Given the description of an element on the screen output the (x, y) to click on. 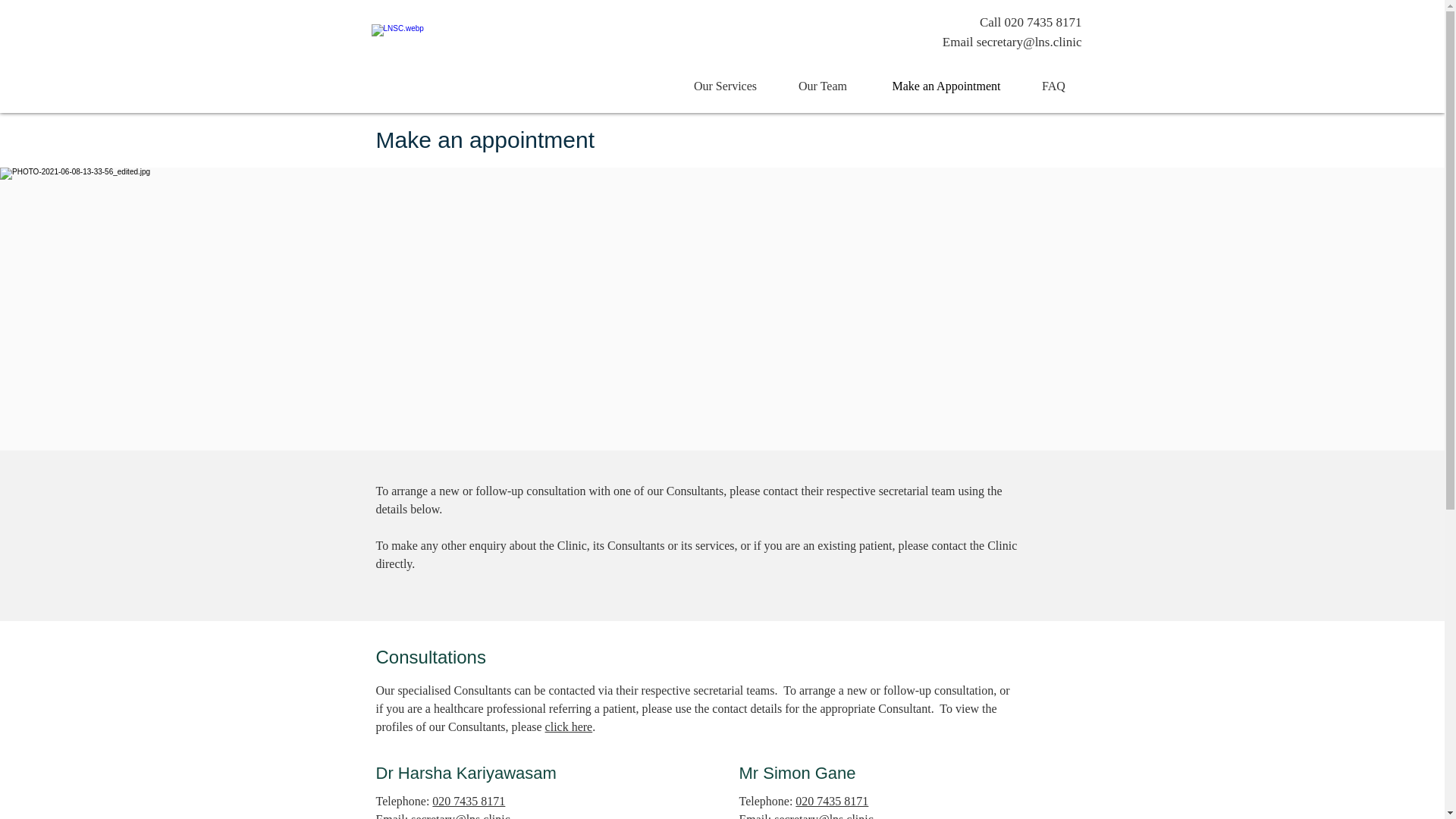
Our Services (724, 85)
click here (568, 726)
Make an Appointment (946, 85)
FAQ (1053, 85)
020 7435 8171 (1042, 22)
020 7435 8171 (468, 800)
Our Team (821, 85)
Call (991, 22)
020 7435 8171 (830, 800)
